Given the description of an element on the screen output the (x, y) to click on. 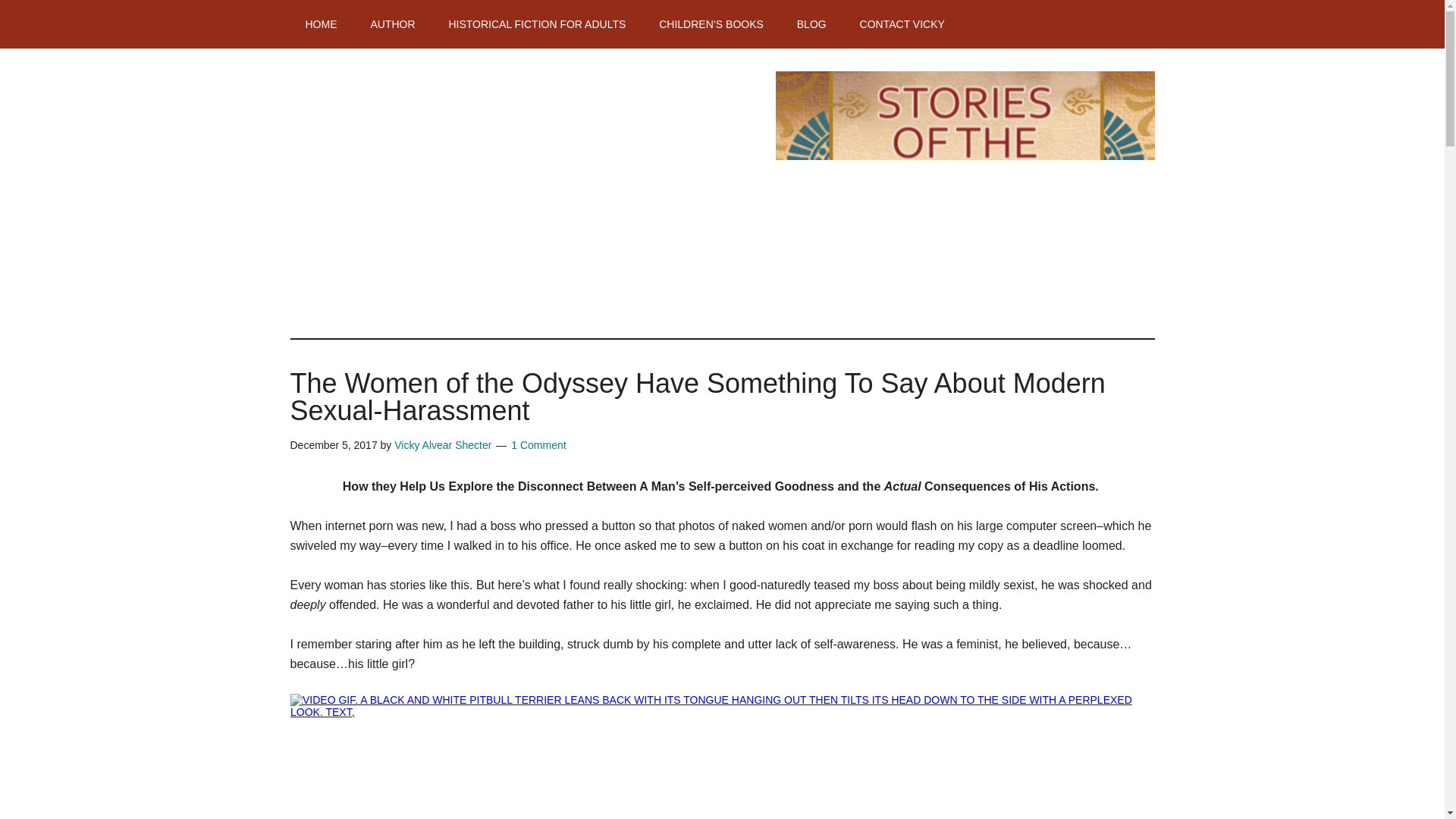
HISTORICAL FICTION FOR ADULTS (536, 24)
Vicky Alvear Shecter (443, 444)
BLOG (811, 24)
CONTACT VICKY (901, 24)
AUTHOR (392, 24)
1 Comment (538, 444)
HOME (320, 24)
